Given the description of an element on the screen output the (x, y) to click on. 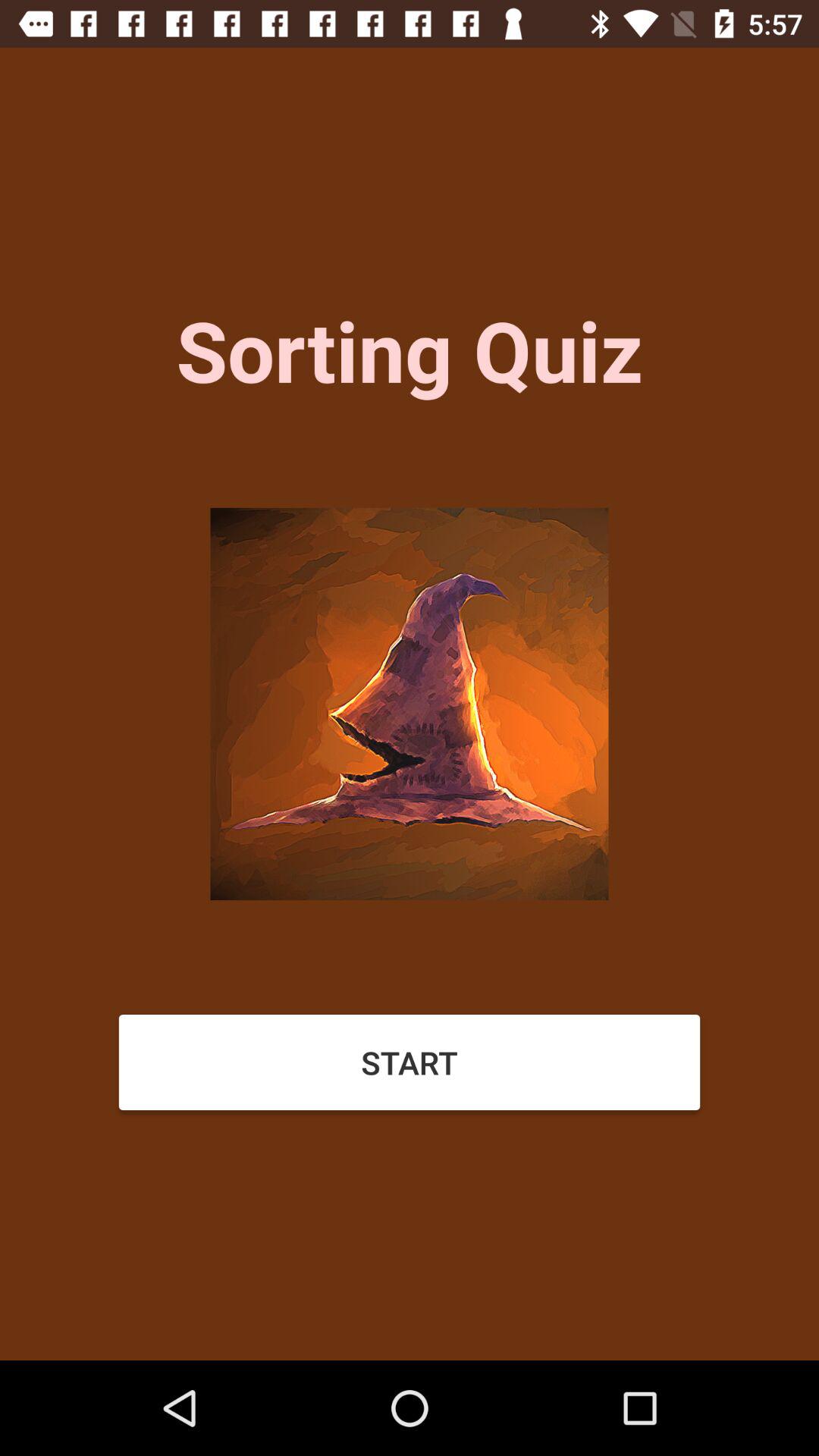
open the start icon (409, 1062)
